Given the description of an element on the screen output the (x, y) to click on. 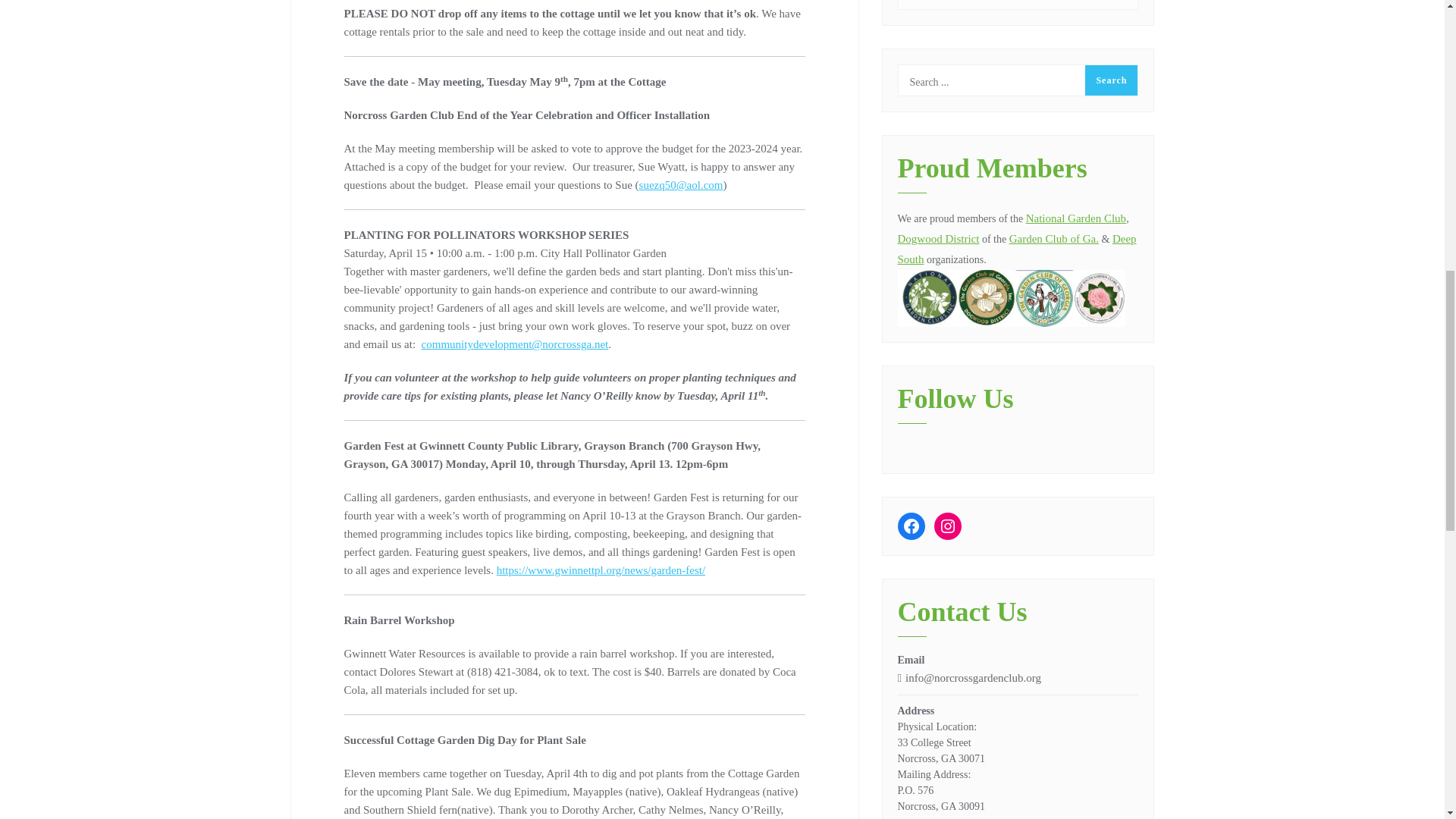
Search (1110, 80)
Search (1110, 80)
